Given the description of an element on the screen output the (x, y) to click on. 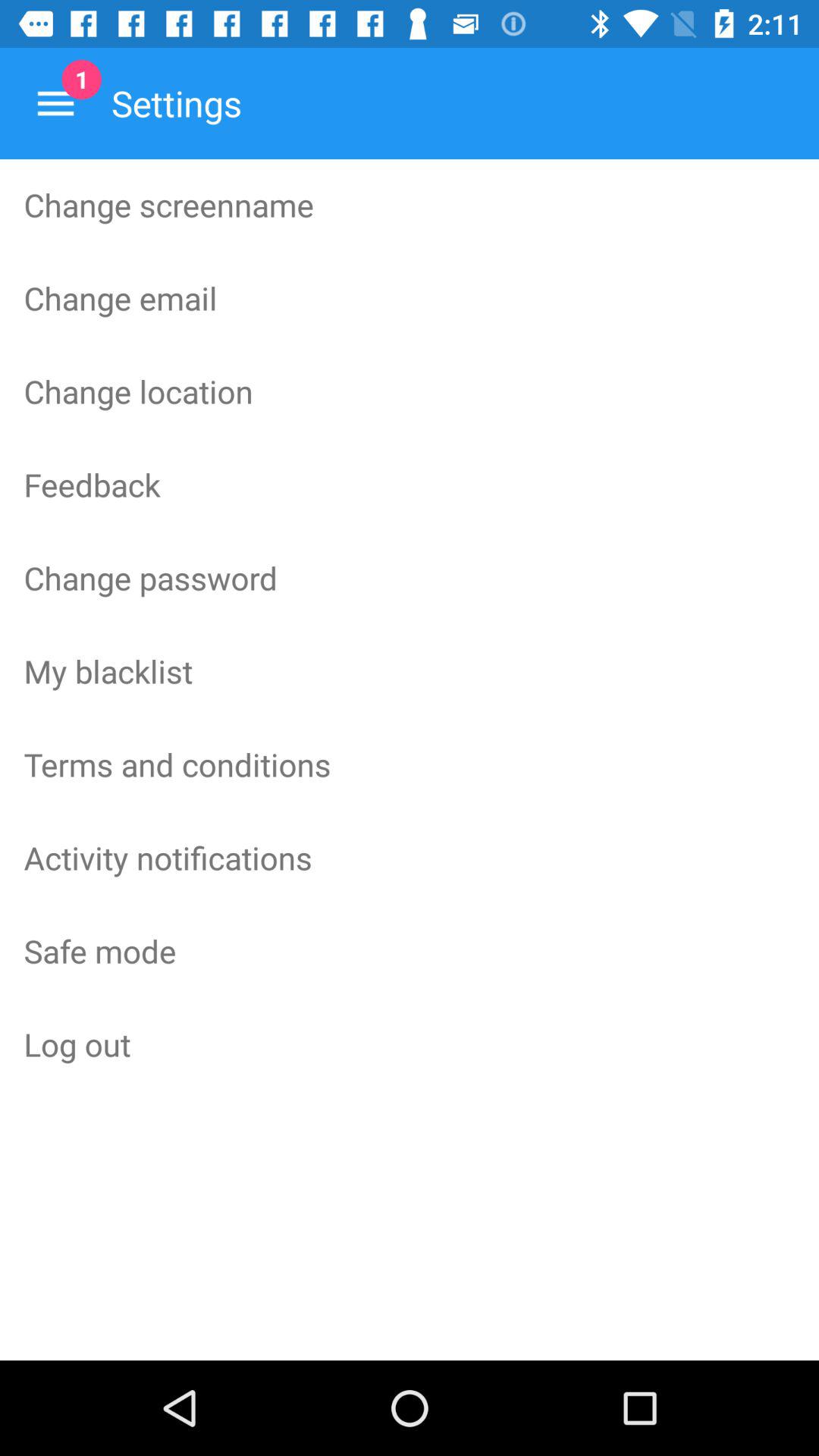
select the icon above the change screenname (55, 103)
